Given the description of an element on the screen output the (x, y) to click on. 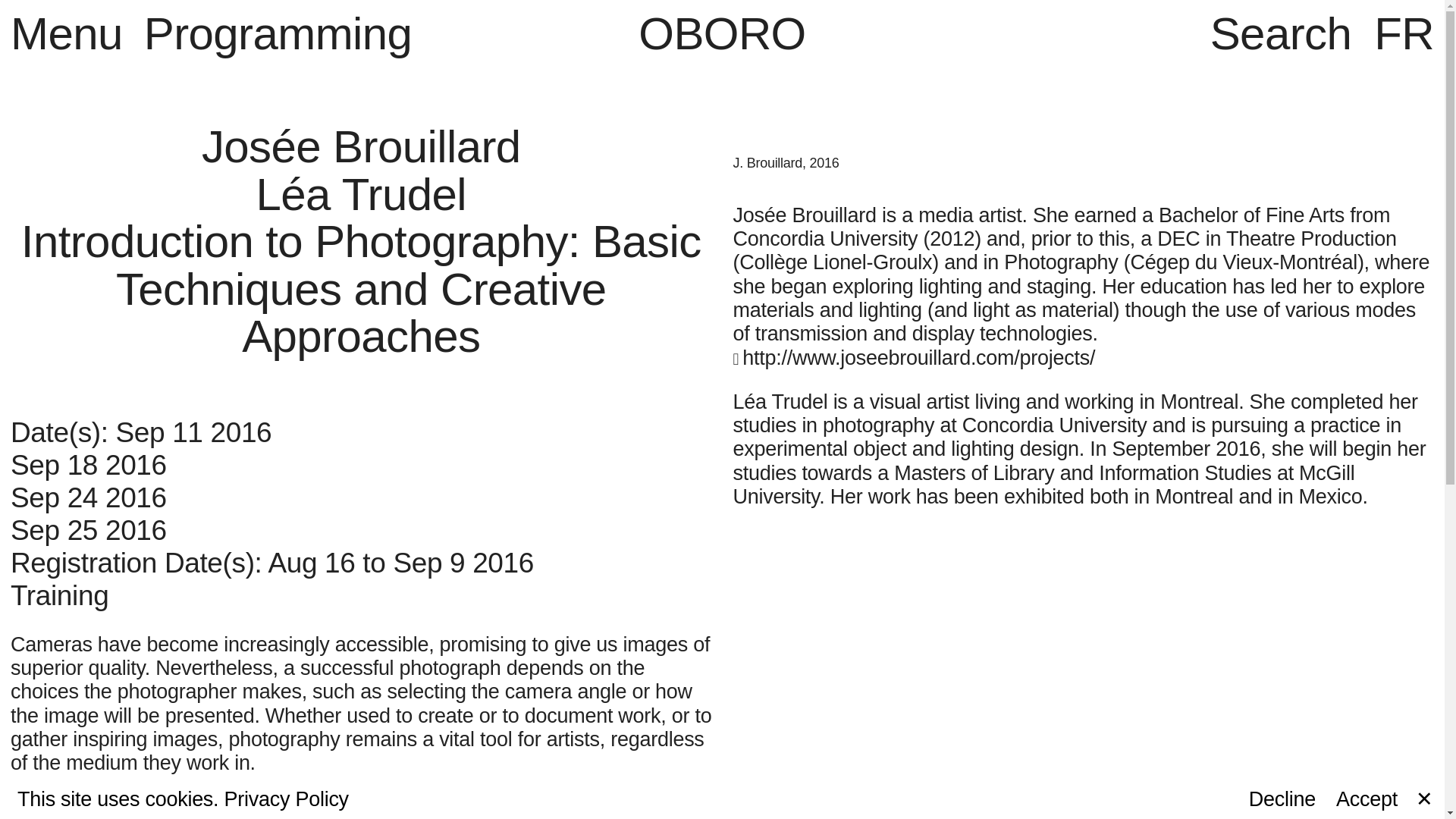
OBORO (722, 33)
Privacy Policy (286, 798)
Accept (1366, 799)
Programming (278, 33)
FR (1404, 33)
Decline (1282, 799)
